Given the description of an element on the screen output the (x, y) to click on. 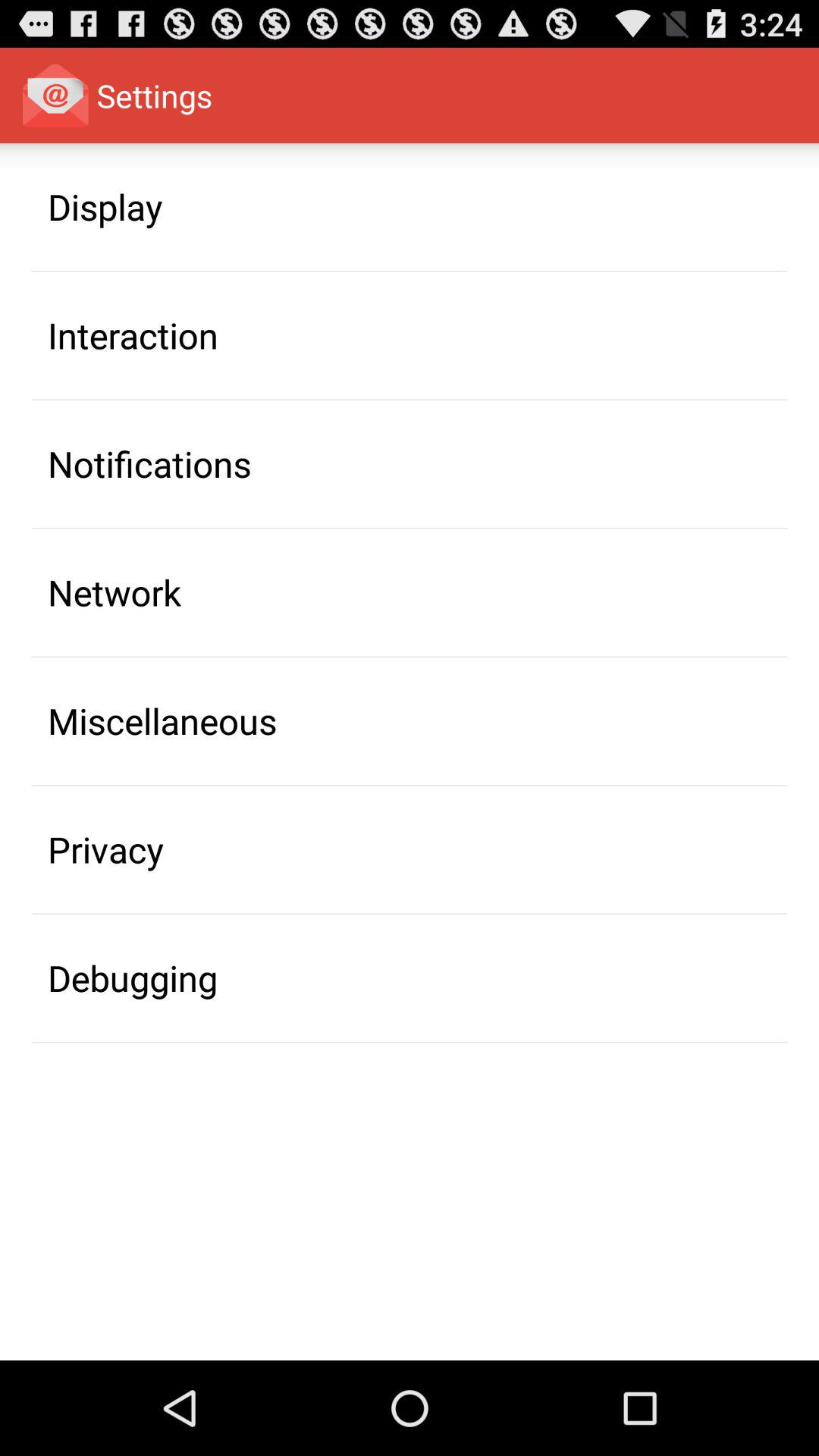
launch the debugging (132, 977)
